Given the description of an element on the screen output the (x, y) to click on. 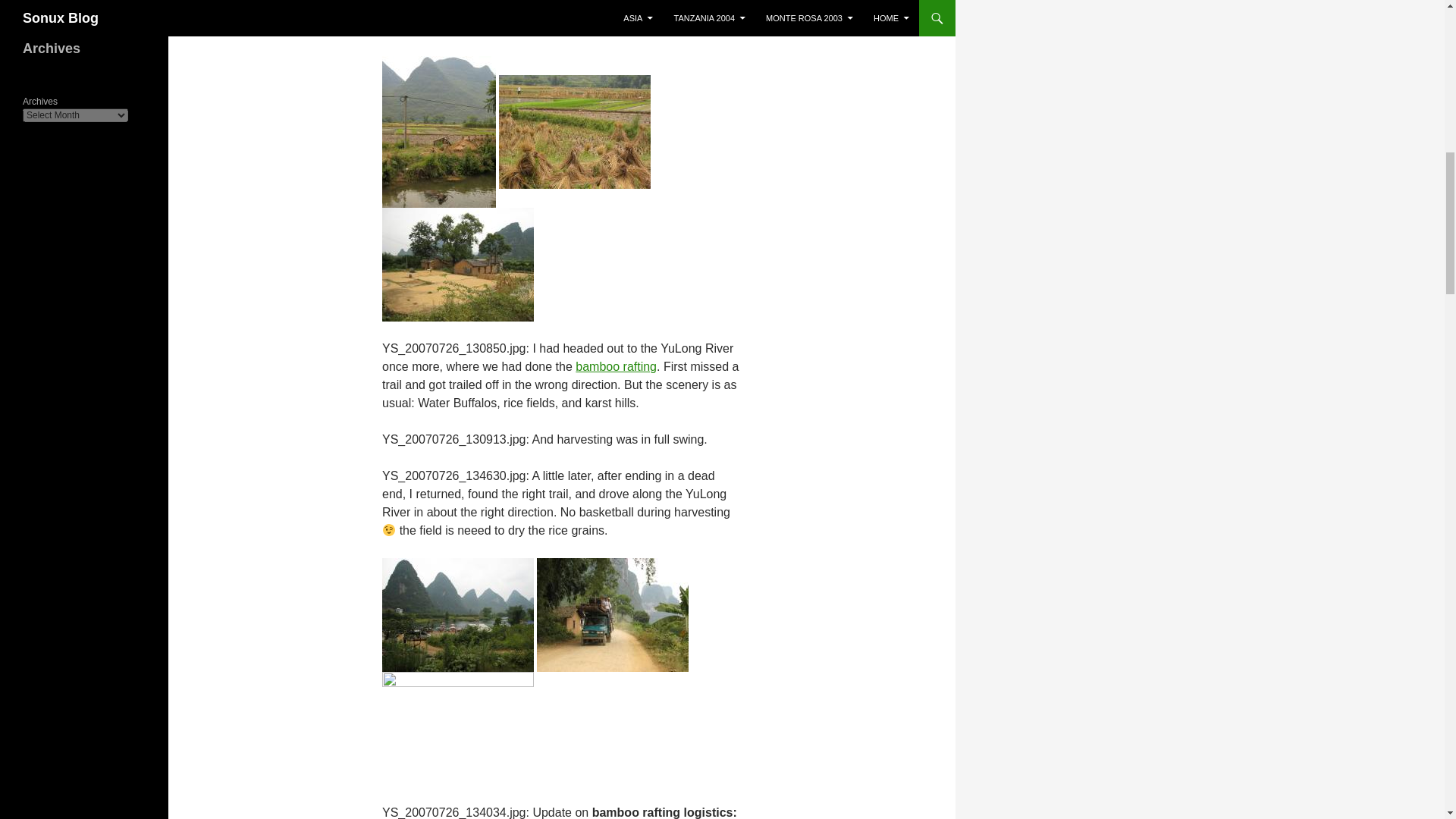
bamboo rafting (615, 366)
